Given the description of an element on the screen output the (x, y) to click on. 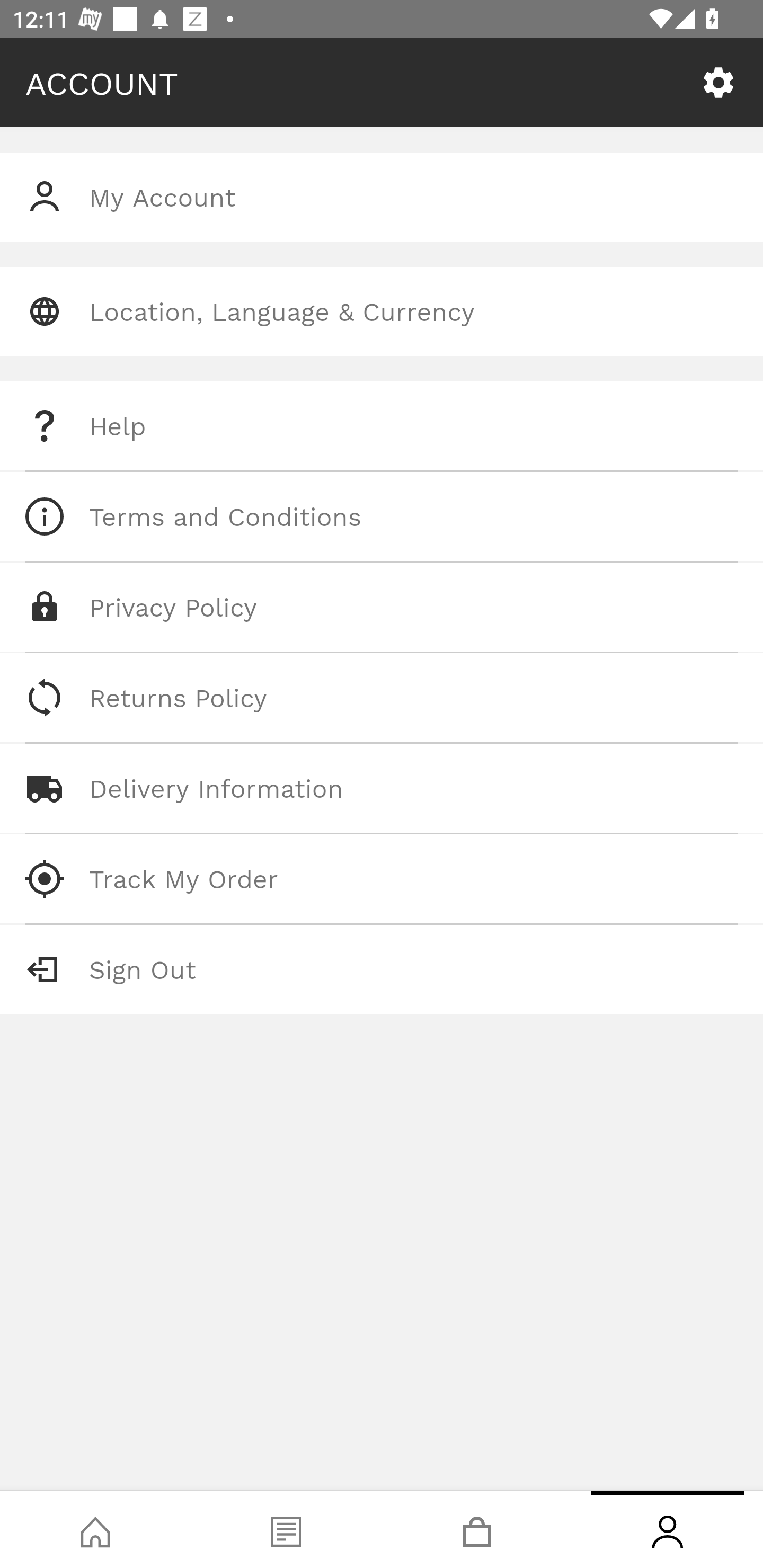
SETTINGS (718, 82)
My Account (381, 196)
Location, Language & Currency (381, 310)
Help (381, 425)
Terms and Conditions (381, 516)
Privacy Policy (381, 607)
Returns Policy (381, 697)
Delivery Information (381, 787)
Track My Order (381, 878)
Sign Out (381, 969)
Shop, tab, 1 of 4 (95, 1529)
Blog, tab, 2 of 4 (285, 1529)
Basket, tab, 3 of 4 (476, 1529)
Account, tab, 4 of 4 (667, 1529)
